Given the description of an element on the screen output the (x, y) to click on. 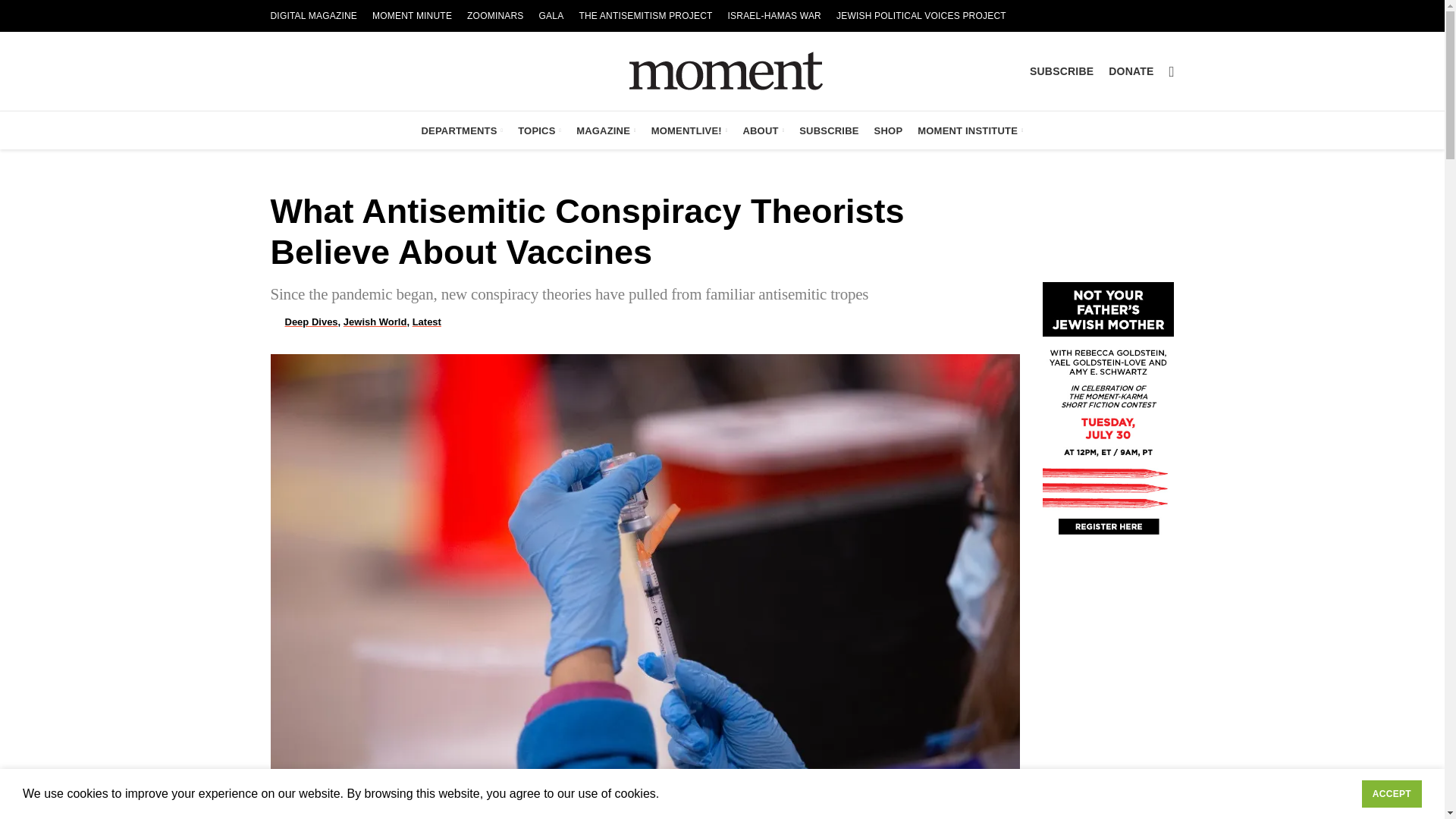
DEPARTMENTS (462, 130)
THE ANTISEMITISM PROJECT (644, 15)
ISRAEL-HAMAS WAR (774, 15)
ZOOMINARS (495, 15)
GALA (551, 15)
SUBSCRIBE (1061, 71)
TOPICS (540, 130)
DIGITAL MAGAZINE (313, 15)
MOMENT MINUTE (412, 15)
JEWISH POLITICAL VOICES PROJECT (920, 15)
DONATE (1130, 71)
